Given the description of an element on the screen output the (x, y) to click on. 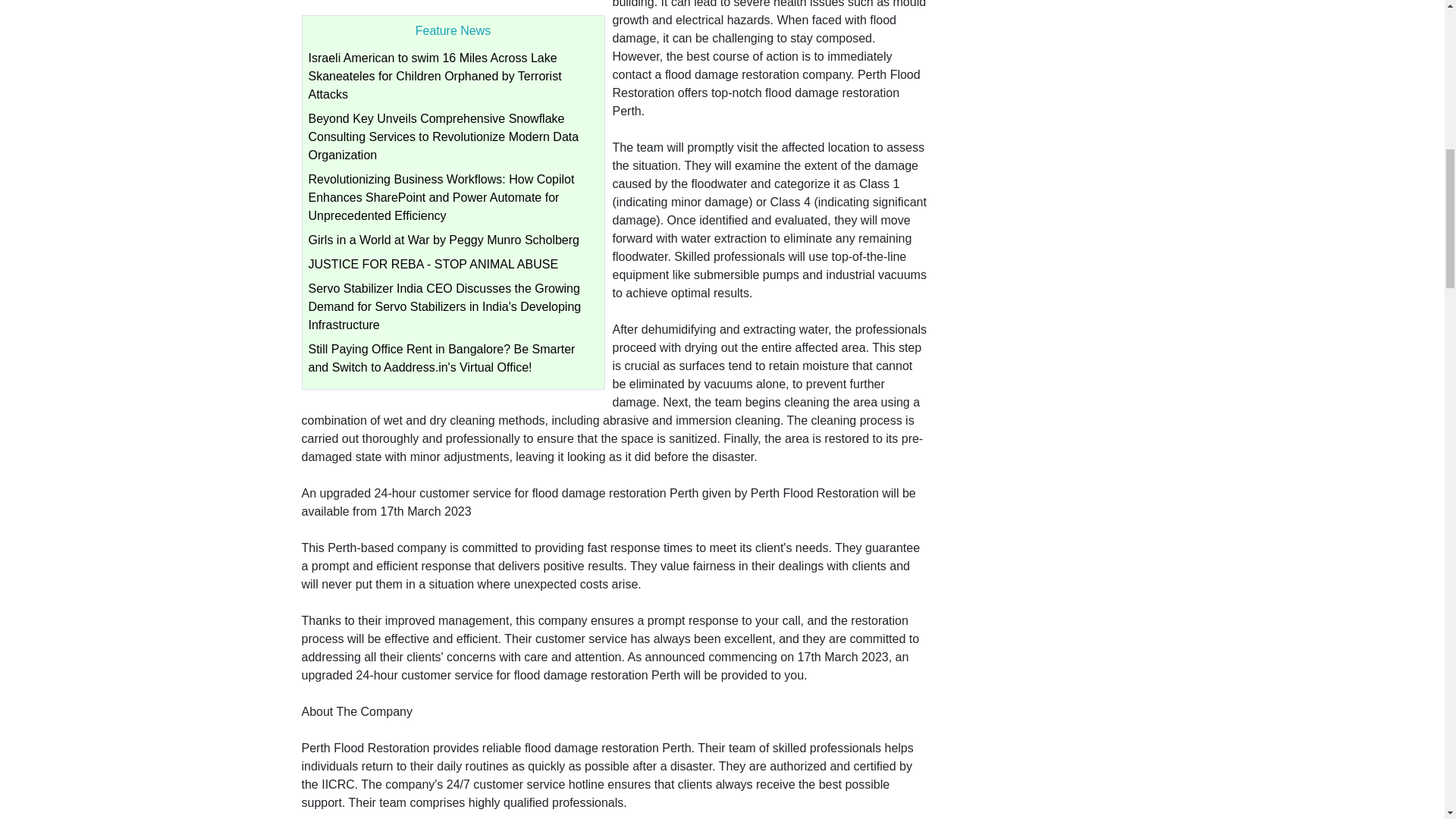
JUSTICE FOR REBA - STOP ANIMAL ABUSE (432, 264)
Girls in a World at War by Peggy Munro Scholberg (442, 239)
